Given the description of an element on the screen output the (x, y) to click on. 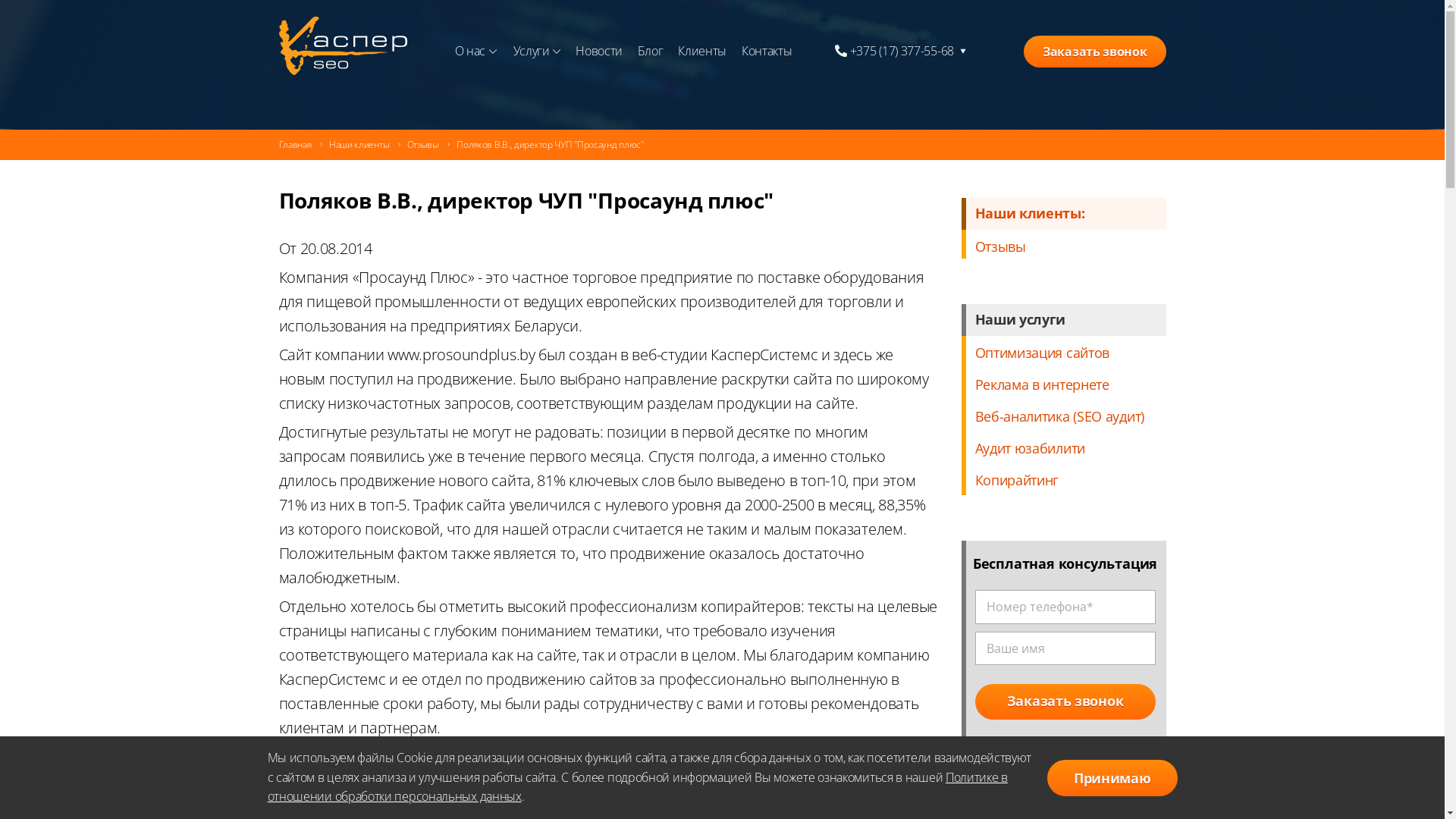
+375 (17) 377-55-68 Element type: text (908, 51)
